Given the description of an element on the screen output the (x, y) to click on. 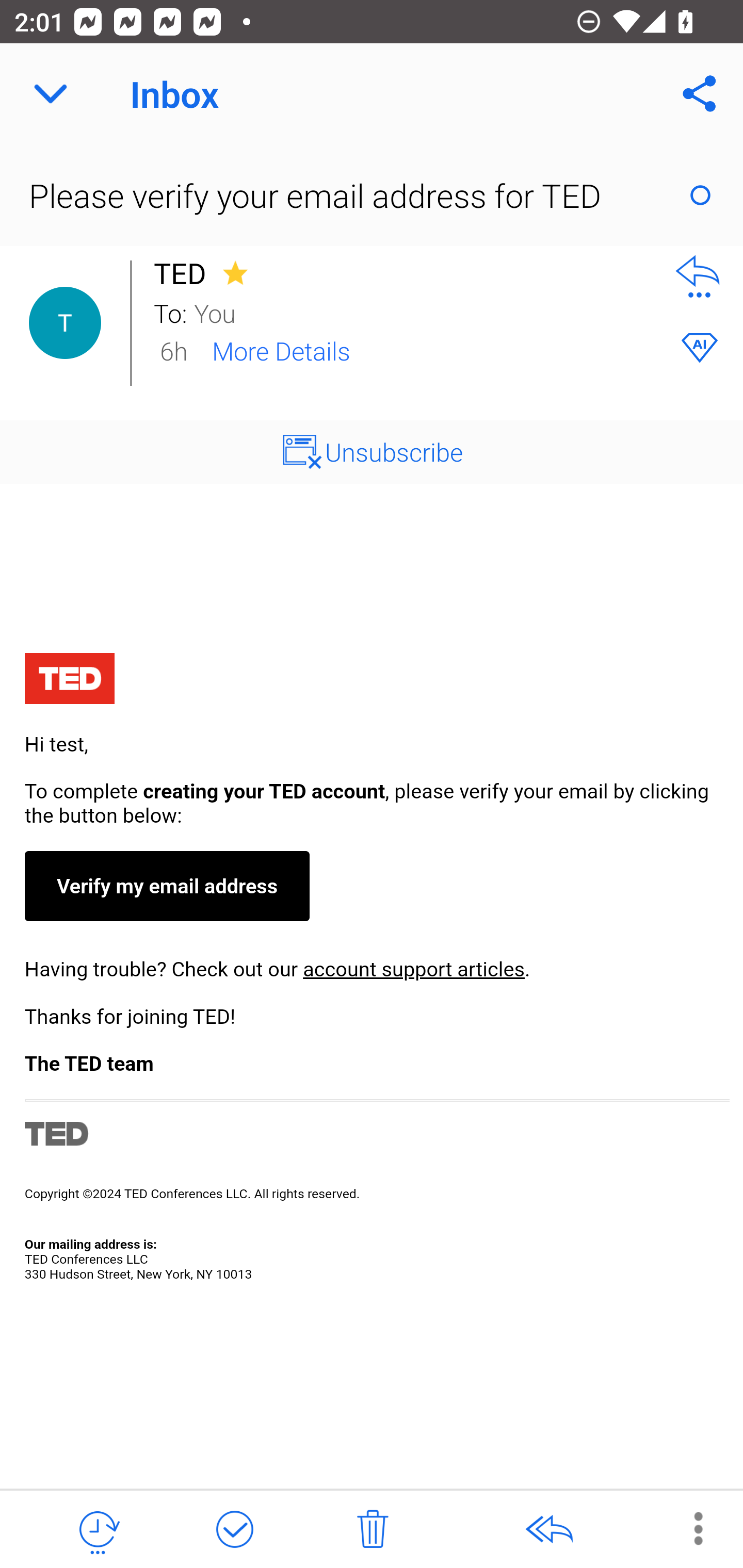
Navigate up (50, 93)
Share (699, 93)
Mark as Read (699, 194)
TED (184, 273)
Unstar (234, 272)
Contact Details (64, 322)
You (422, 311)
More Details (280, 349)
Unsubscribe (393, 451)
ted-transactional-email-logo (69, 680)
Verify my email address (166, 885)
360000254454-Account (371, 968)
account support articles (413, 968)
Snooze (97, 1529)
Mark as Done (234, 1529)
Delete (372, 1529)
Reply All (548, 1529)
